Given the description of an element on the screen output the (x, y) to click on. 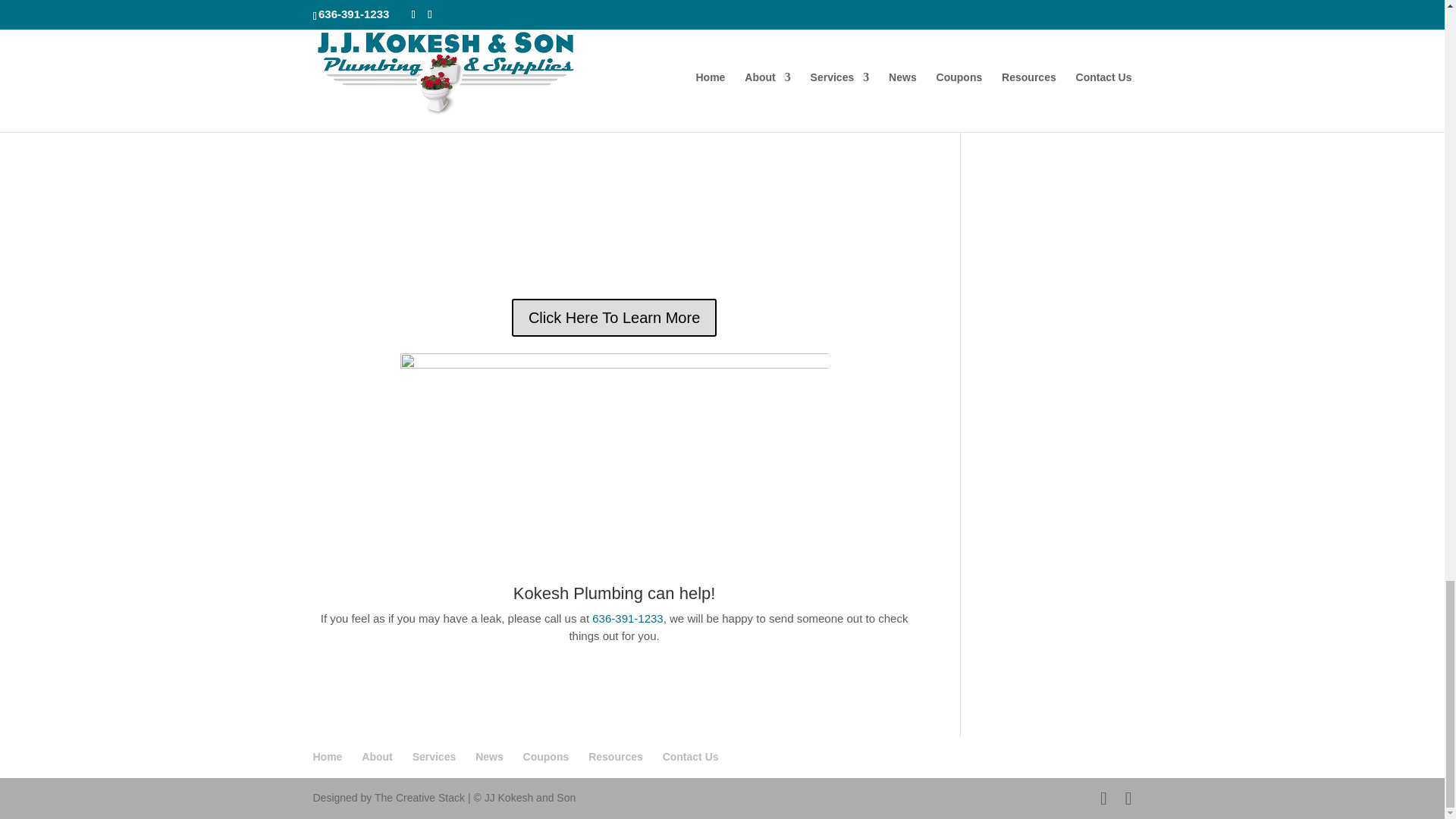
fixaleak (614, 140)
Click Here To Learn More (614, 317)
Home (327, 756)
Resources (615, 756)
News (489, 756)
About (376, 756)
Contact Us (690, 756)
636-391-1233 (627, 617)
Services (434, 756)
Coupons (545, 756)
